Given the description of an element on the screen output the (x, y) to click on. 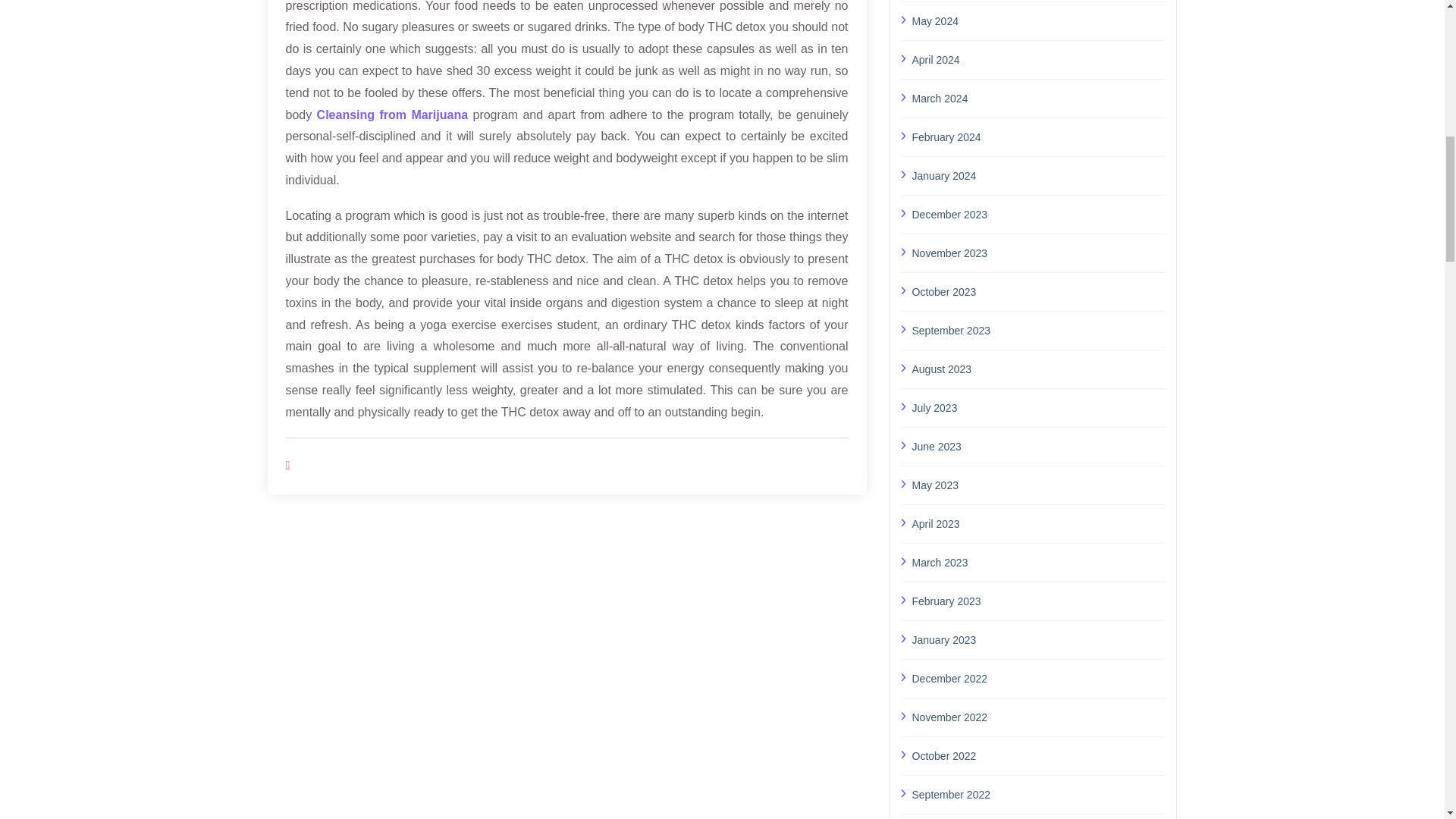
November 2022 (1038, 716)
May 2023 (1038, 484)
March 2024 (1038, 97)
October 2022 (1038, 755)
December 2022 (1038, 678)
January 2024 (1038, 175)
February 2024 (1038, 137)
January 2023 (1038, 639)
April 2024 (1038, 59)
October 2023 (1038, 291)
